Given the description of an element on the screen output the (x, y) to click on. 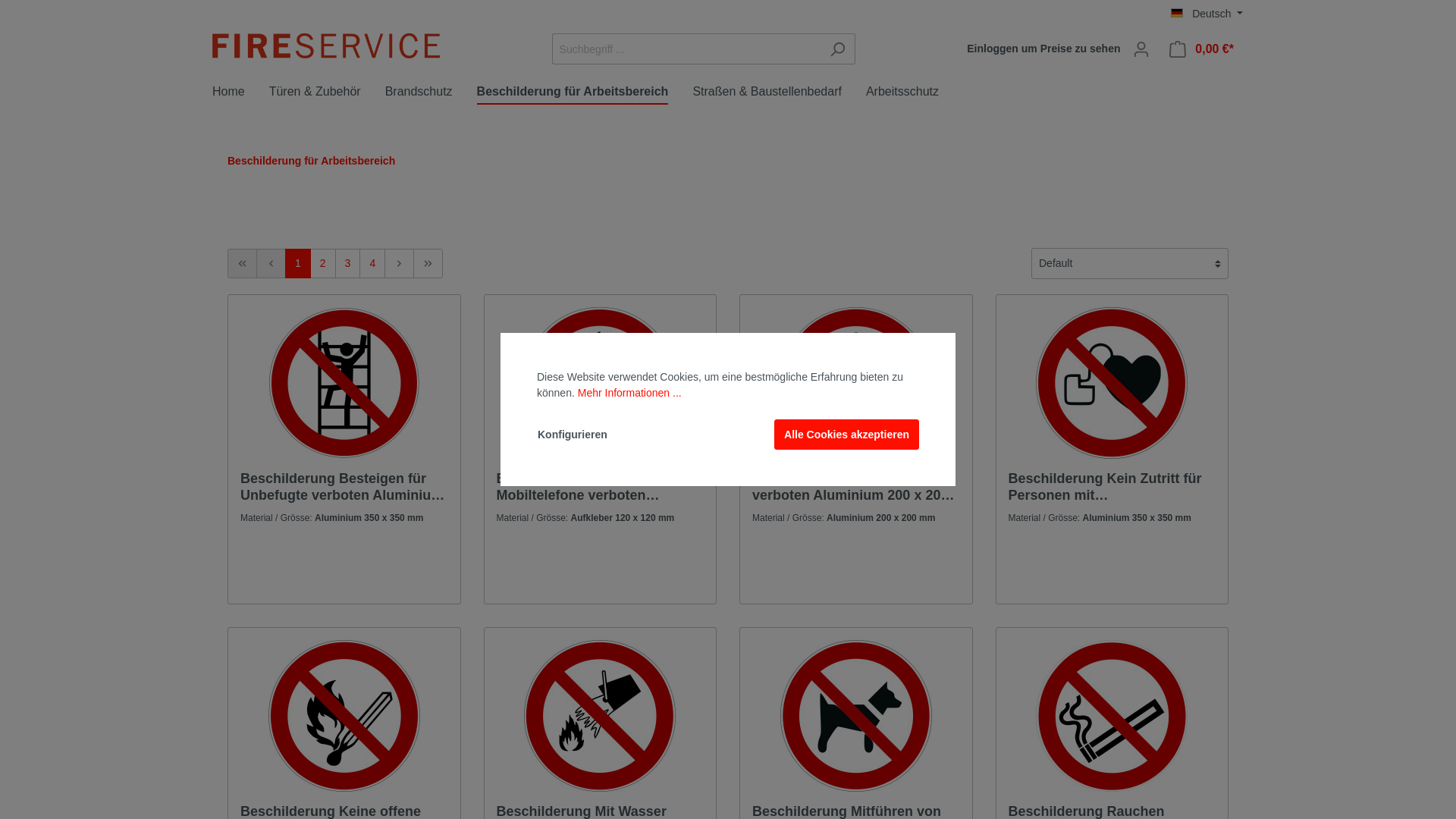
Alle Cookies akzeptieren Element type: text (846, 434)
Deutsch Element type: text (1206, 13)
Zur Startseite wechseln Element type: hover (325, 45)
Home Element type: text (240, 93)
Beschilderung Rauchen verboten Aufkleber 120 x120 mm Element type: hover (1112, 715)
Beschilderung Keine offene Flamme Aluminium 200 x 200 mm Element type: hover (344, 715)
Mehr Informationen ... Element type: text (629, 393)
Arbeitsschutz Element type: text (914, 93)
Brandschutz Element type: text (430, 93)
Konfigurieren Element type: text (572, 434)
